Given the description of an element on the screen output the (x, y) to click on. 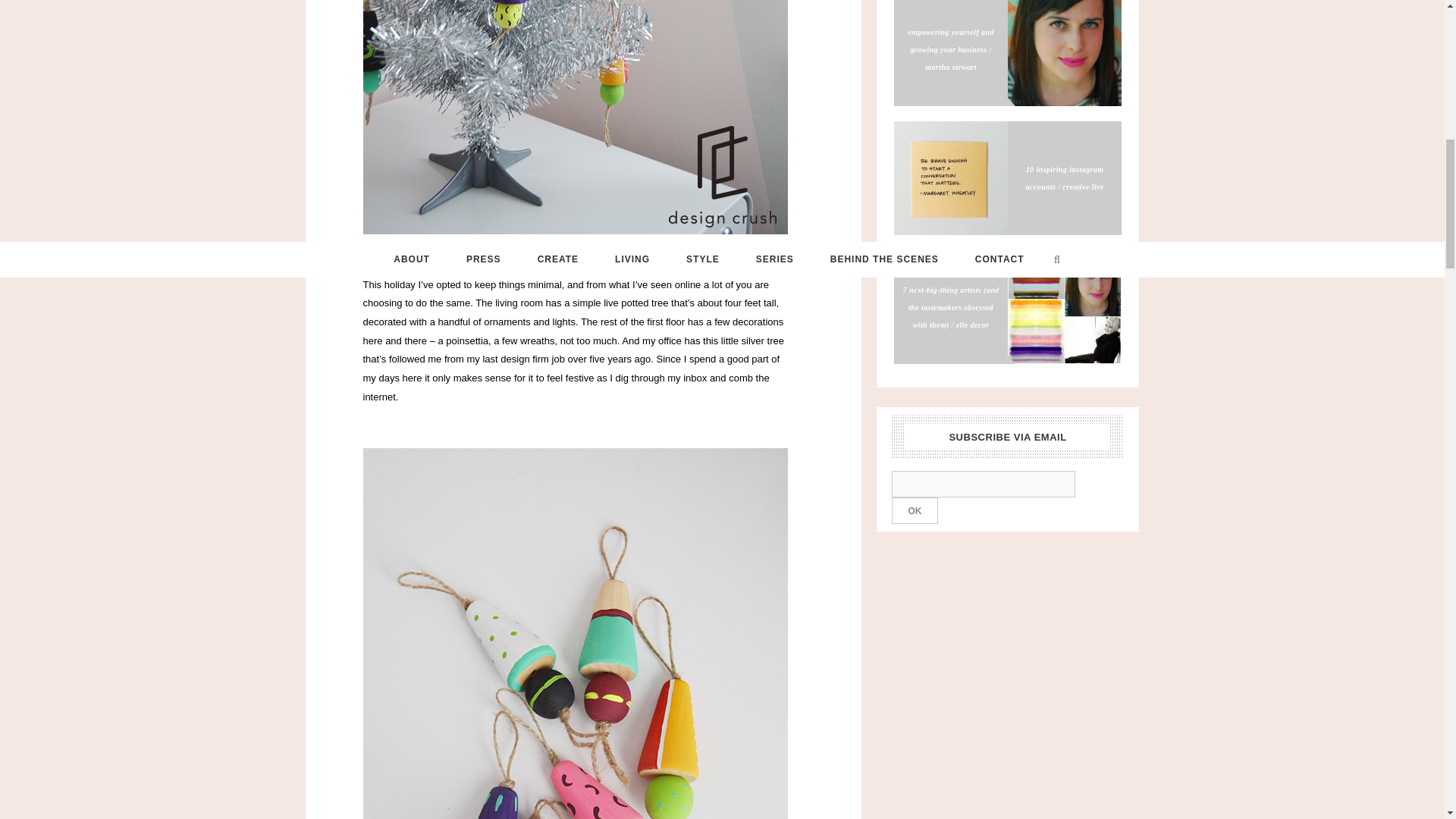
Ok (914, 510)
